Given the description of an element on the screen output the (x, y) to click on. 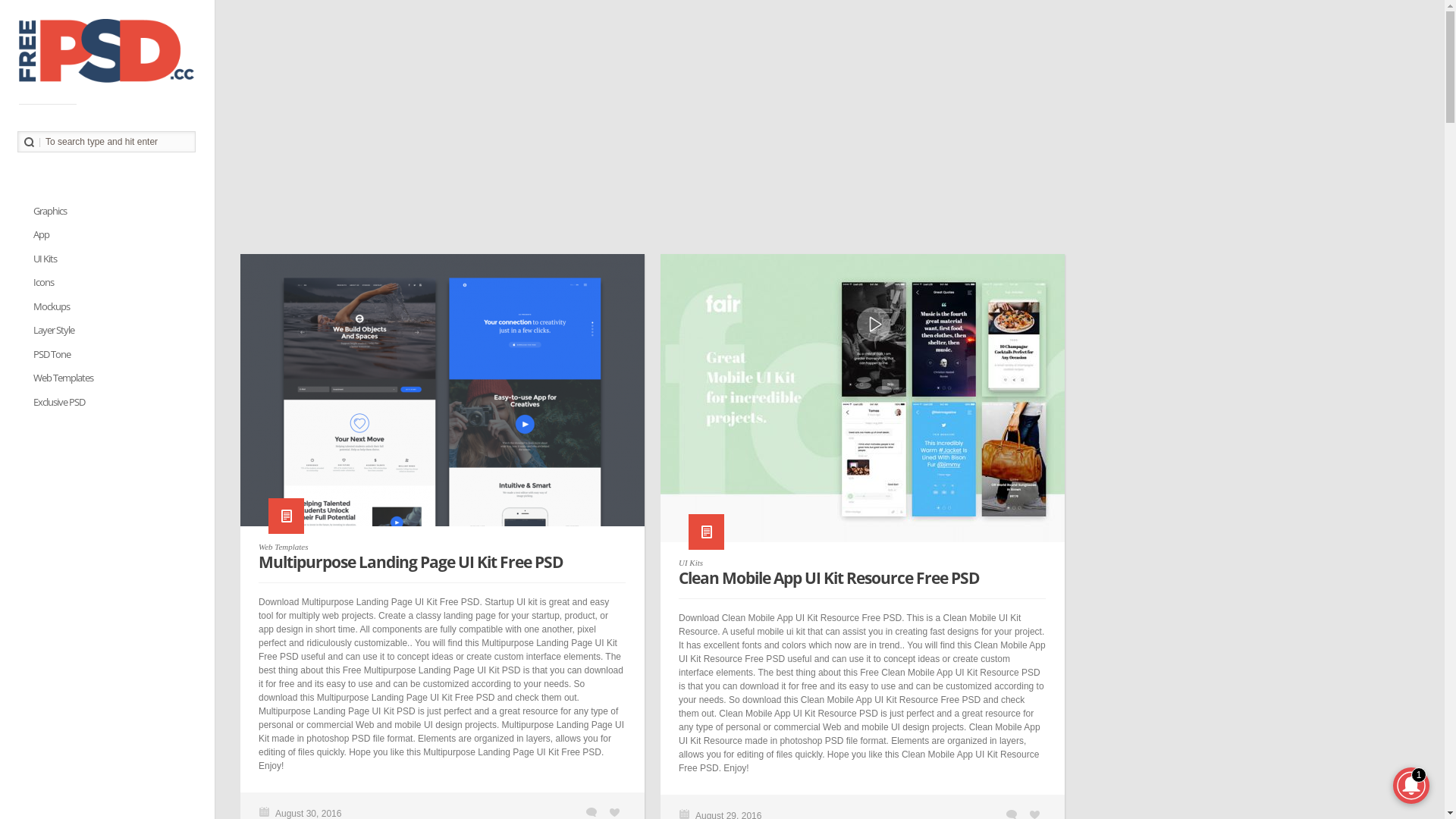
Exclusive PSD Element type: text (59, 402)
Multipurpose Landing Page UI Kit Free PSD Element type: text (410, 561)
Graphics Element type: text (50, 210)
Advertisement Element type: hover (786, 132)
Multipurpose Landing Page UI Kit Free PSD Element type: hover (442, 397)
Web Templates Element type: text (63, 377)
Layer Style Element type: text (54, 330)
Search Element type: text (29, 142)
UI Kits Element type: text (45, 258)
Mockups Element type: text (51, 306)
Clean Mobile App UI Kit Resource Free PSD Element type: hover (862, 405)
App Element type: text (41, 234)
Web Templates Element type: text (283, 546)
UI Kits Element type: text (690, 562)
PSD Tone Element type: text (52, 354)
Icons Element type: text (43, 282)
Clean Mobile App UI Kit Resource Free PSD Element type: text (828, 577)
